Given the description of an element on the screen output the (x, y) to click on. 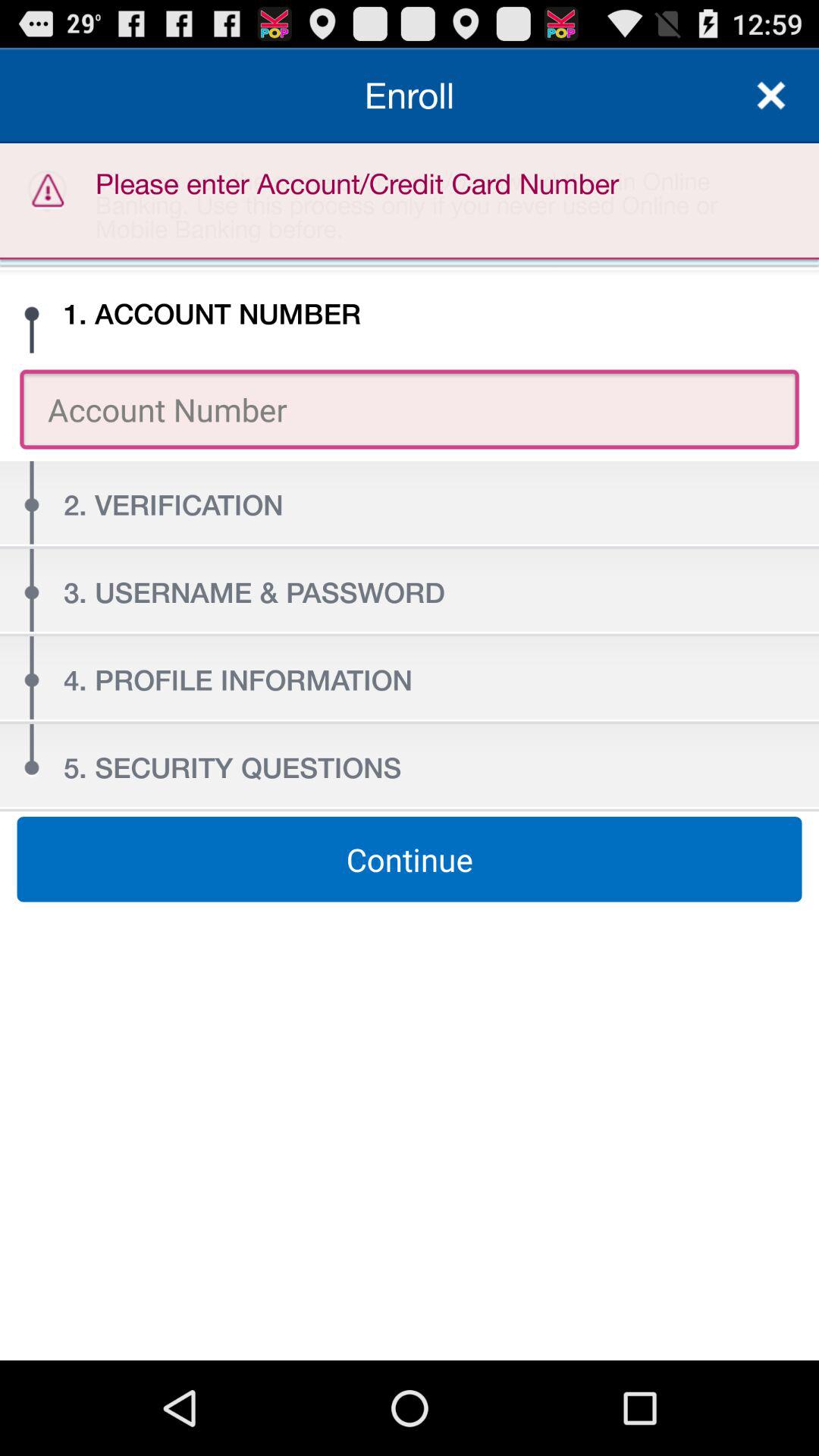
close (771, 95)
